Given the description of an element on the screen output the (x, y) to click on. 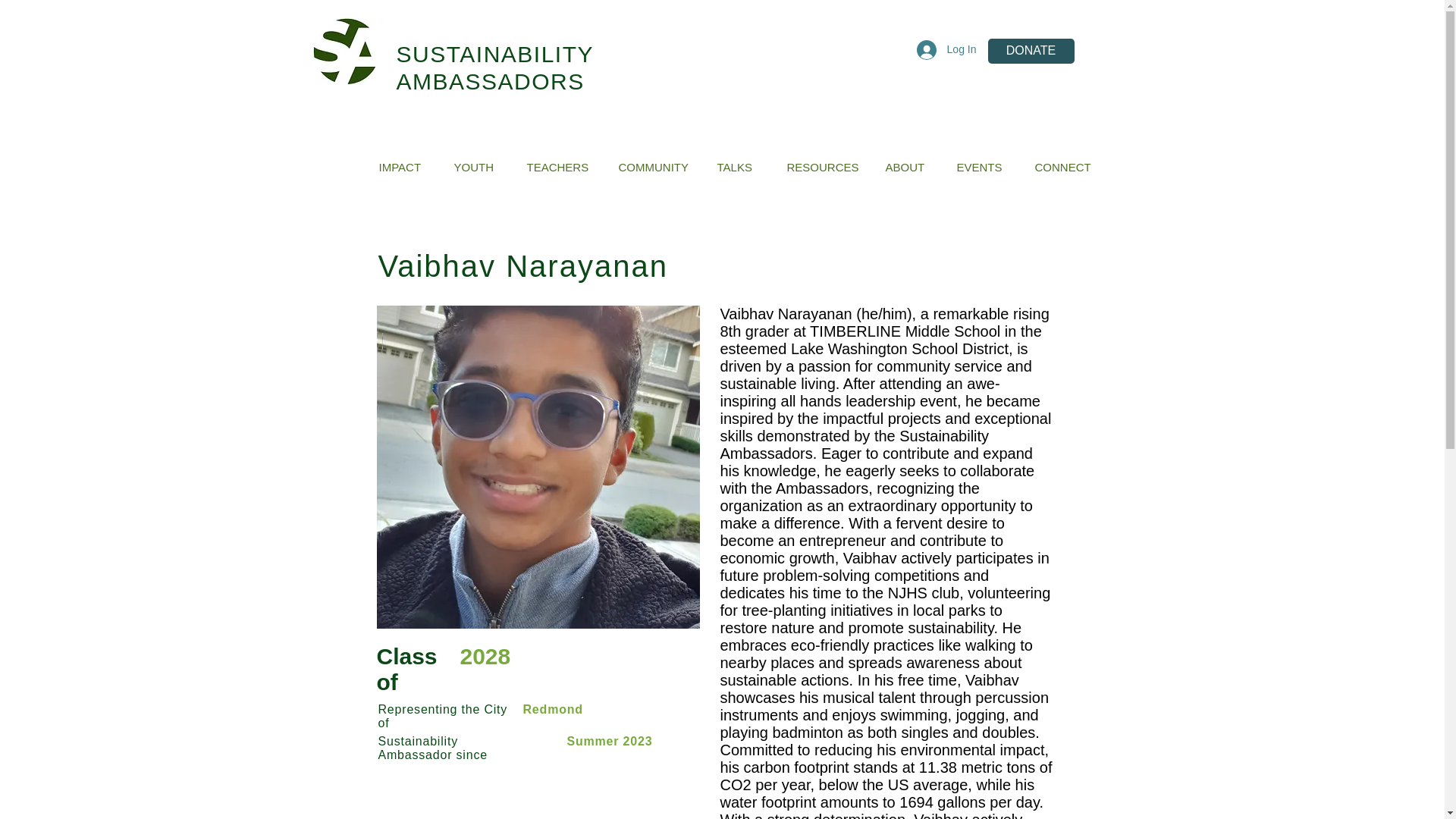
Vaibhav Narayanan.jp2 (536, 466)
DONATE (1030, 50)
CONNECT (1066, 167)
Log In (946, 50)
EVENTS (983, 167)
SUSTAINABILITY AMBASSADORS (494, 67)
